Given the description of an element on the screen output the (x, y) to click on. 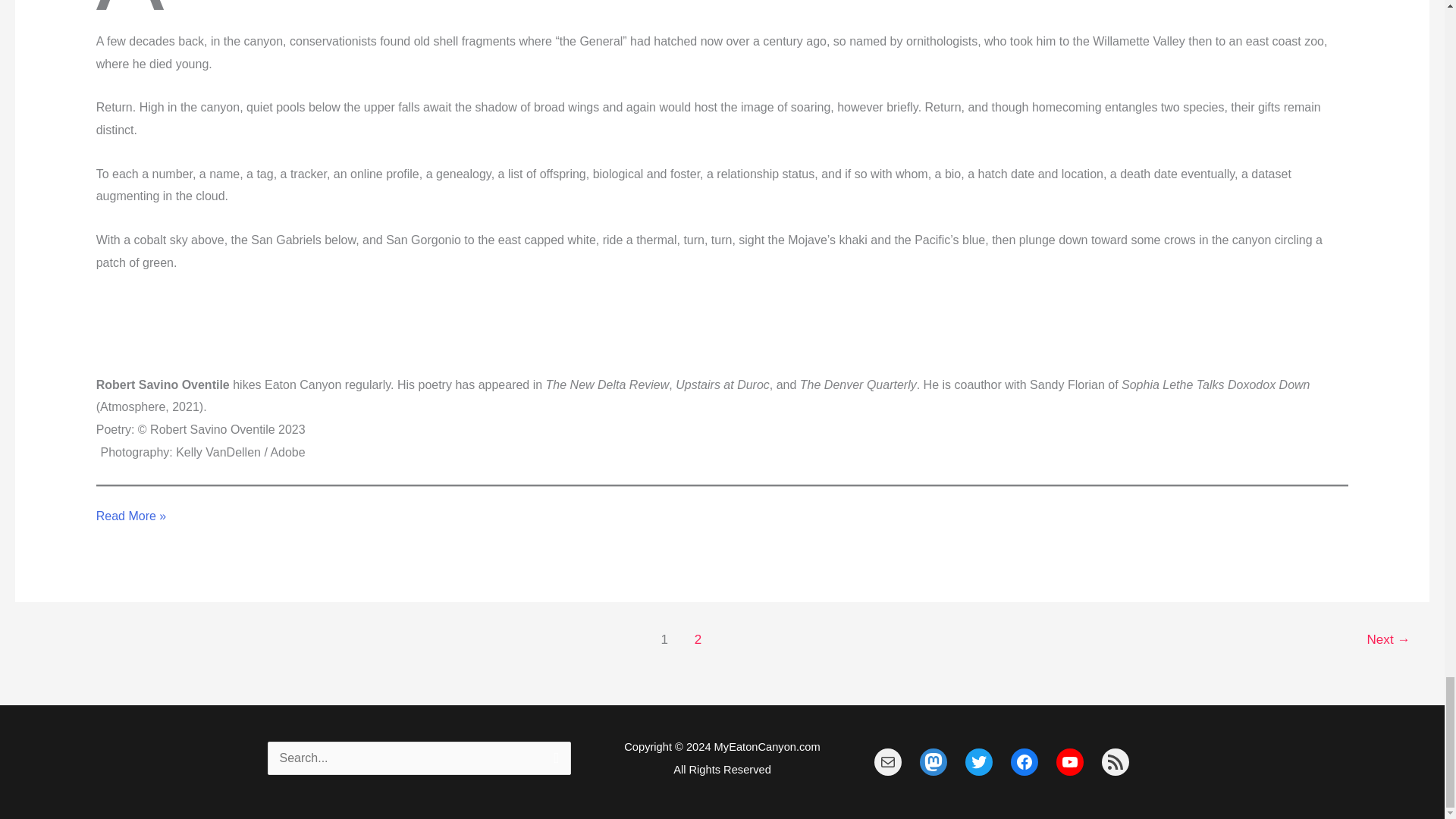
Search (553, 760)
Search (553, 760)
